Given the description of an element on the screen output the (x, y) to click on. 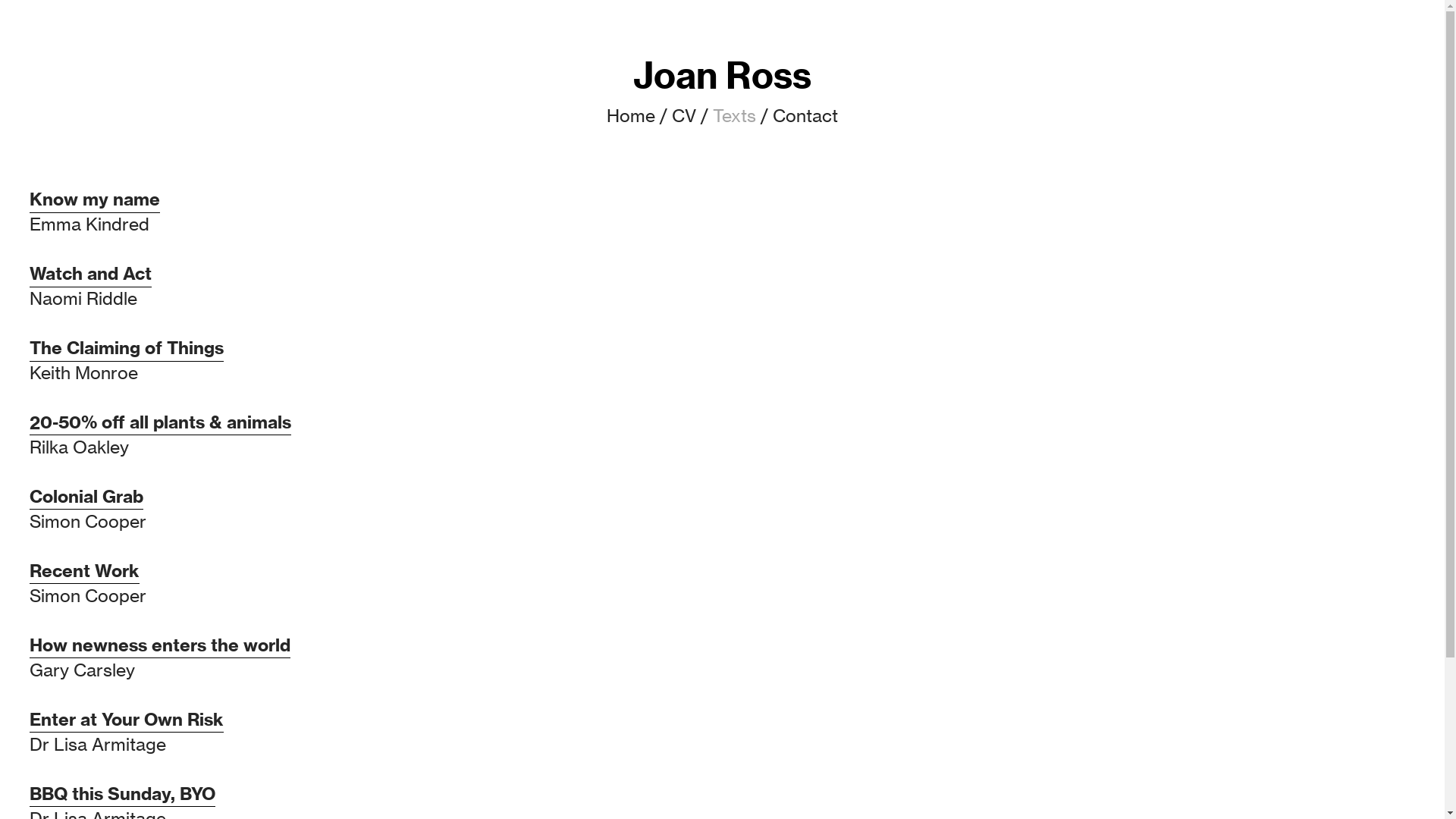
Texts Element type: text (734, 116)
How newness enters the world Element type: text (159, 645)
Home Element type: text (630, 116)
BBQ this Sunday, BYO Element type: text (122, 794)
Enter at Your Own Risk Element type: text (126, 720)
CV Element type: text (683, 116)
Know my name Element type: text (94, 200)
Colonial Grab Element type: text (86, 497)
20-50% off all plants & animals Element type: text (160, 423)
Watch and Act Element type: text (90, 274)
Recent Work Element type: text (84, 571)
Contact Element type: text (804, 116)
The Claiming of Things Element type: text (126, 348)
